Given the description of an element on the screen output the (x, y) to click on. 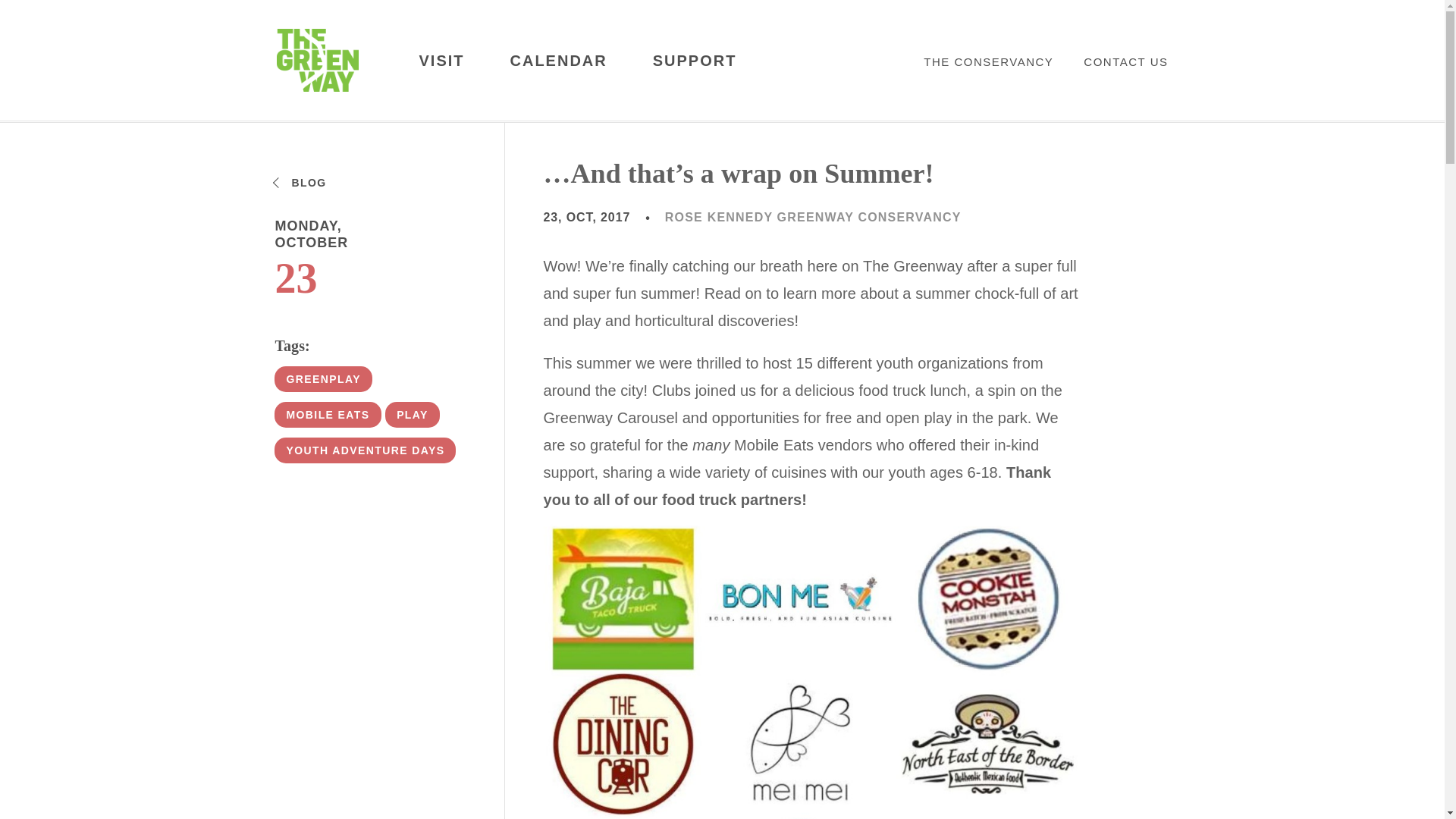
MOBILE EATS (327, 414)
GREENPLAY (323, 379)
BLOG (300, 182)
PLAY (412, 414)
CONTACT US (1125, 61)
SUPPORT (694, 60)
THE CONSERVANCY (987, 61)
YOUTH ADVENTURE DAYS (365, 450)
CALENDAR (559, 60)
VISIT (441, 60)
